Given the description of an element on the screen output the (x, y) to click on. 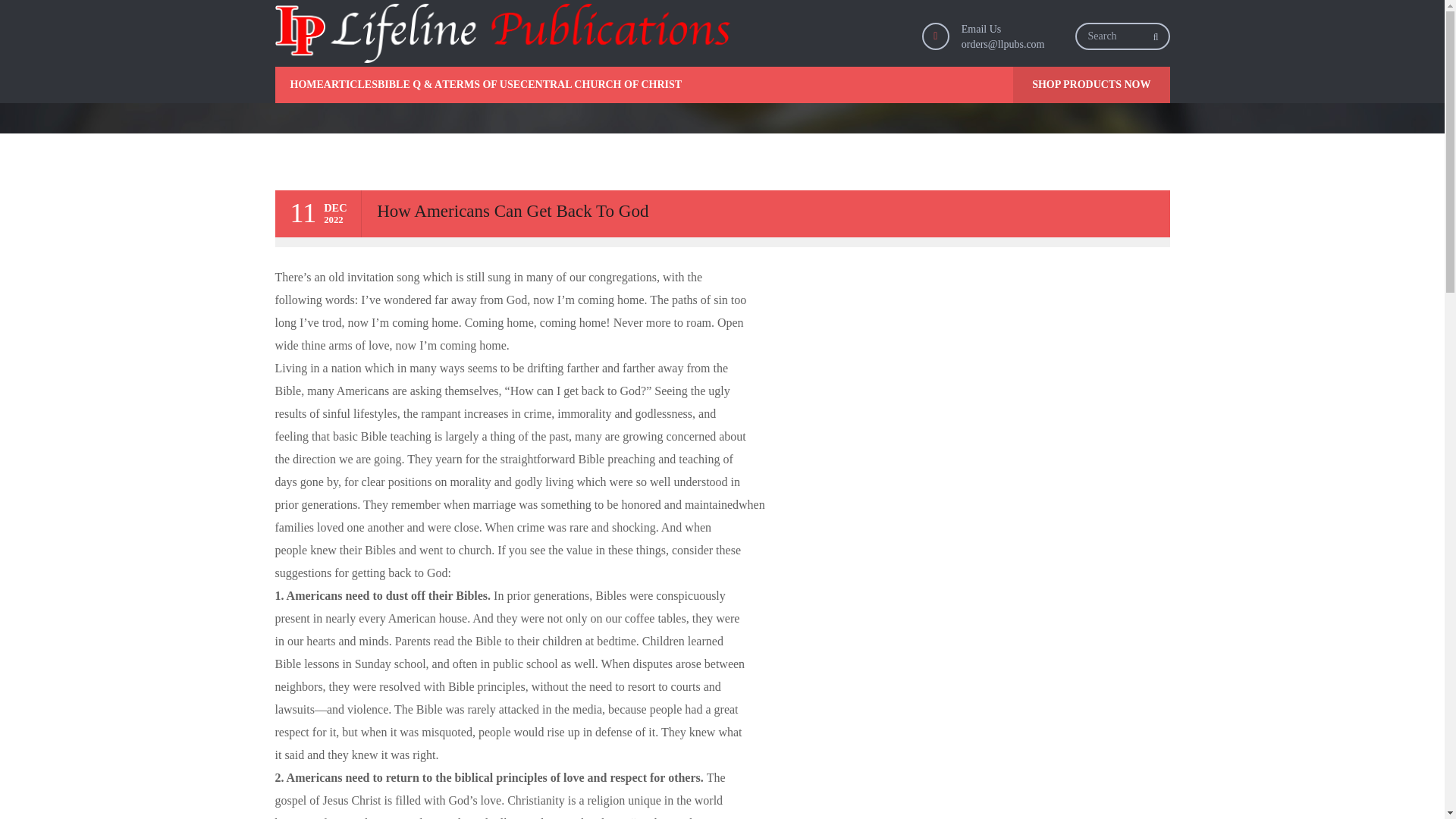
SHOP PRODUCTS NOW (1091, 84)
CENTRAL CHURCH OF CHRIST (600, 84)
HOME (299, 84)
Lifeline Publications (502, 33)
ARTICLES (350, 84)
TERMS OF USE (480, 84)
